Given the description of an element on the screen output the (x, y) to click on. 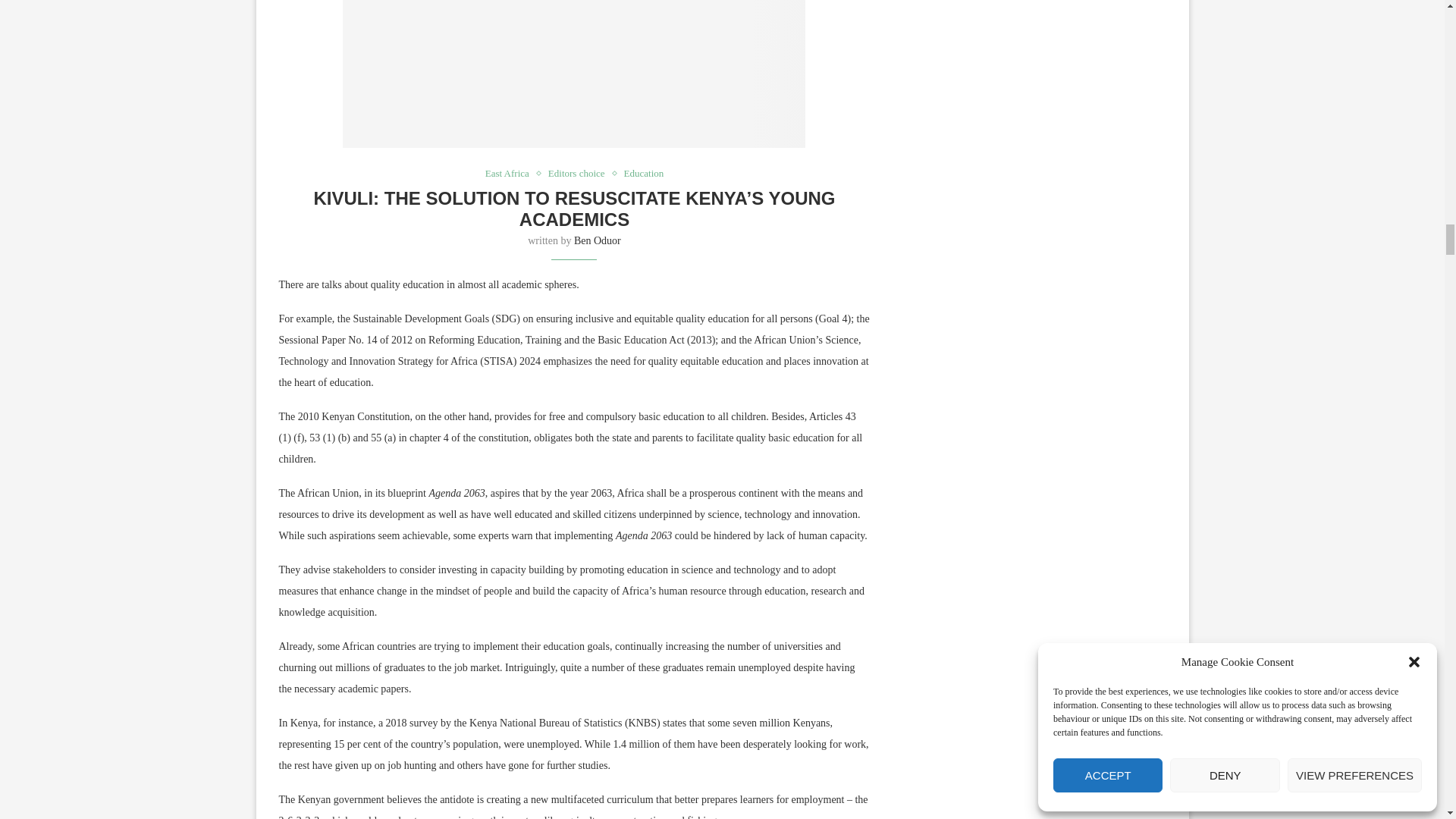
Liza Onyango-Abuje, co-founder and secretary, Kivuli (573, 74)
